Given the description of an element on the screen output the (x, y) to click on. 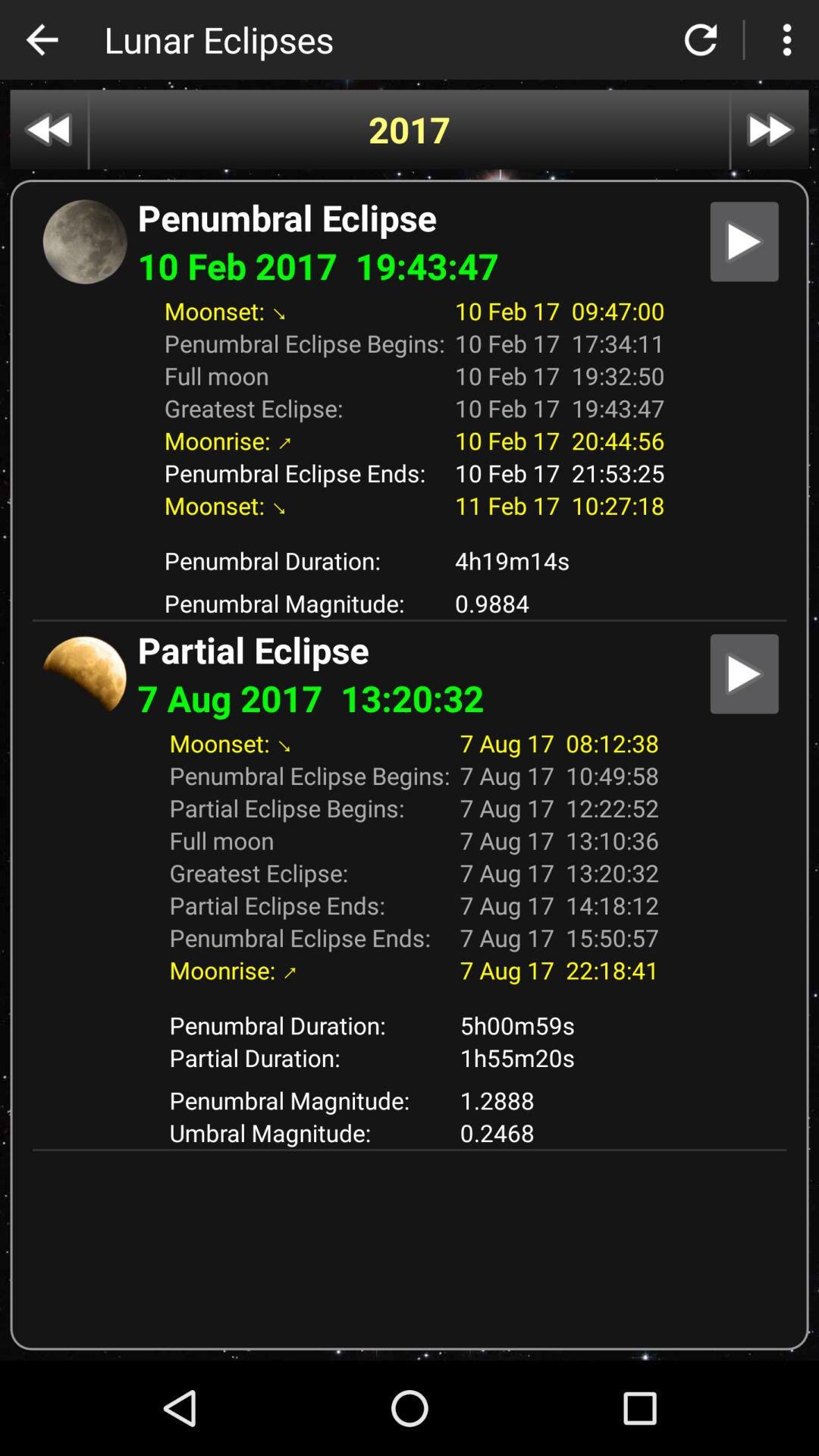
select the icon next to the penumbral duration: item (559, 560)
